Given the description of an element on the screen output the (x, y) to click on. 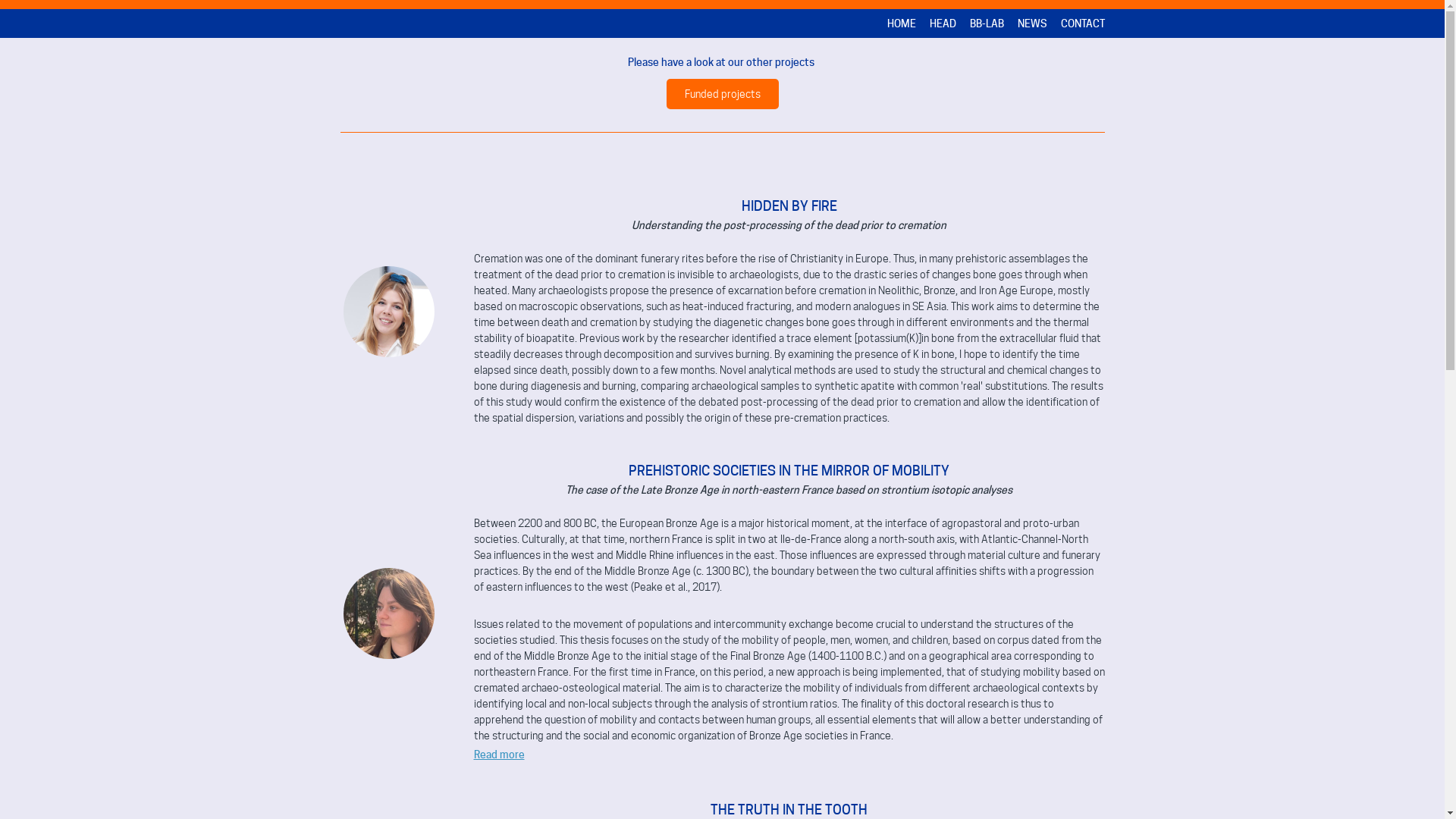
BB-LAB Element type: text (986, 23)
Funded projects Element type: text (721, 93)
HEAD Element type: text (942, 23)
HOME Element type: text (901, 23)
NEWS Element type: text (1032, 23)
CONTACT Element type: text (1082, 23)
Read more Element type: text (498, 753)
